Given the description of an element on the screen output the (x, y) to click on. 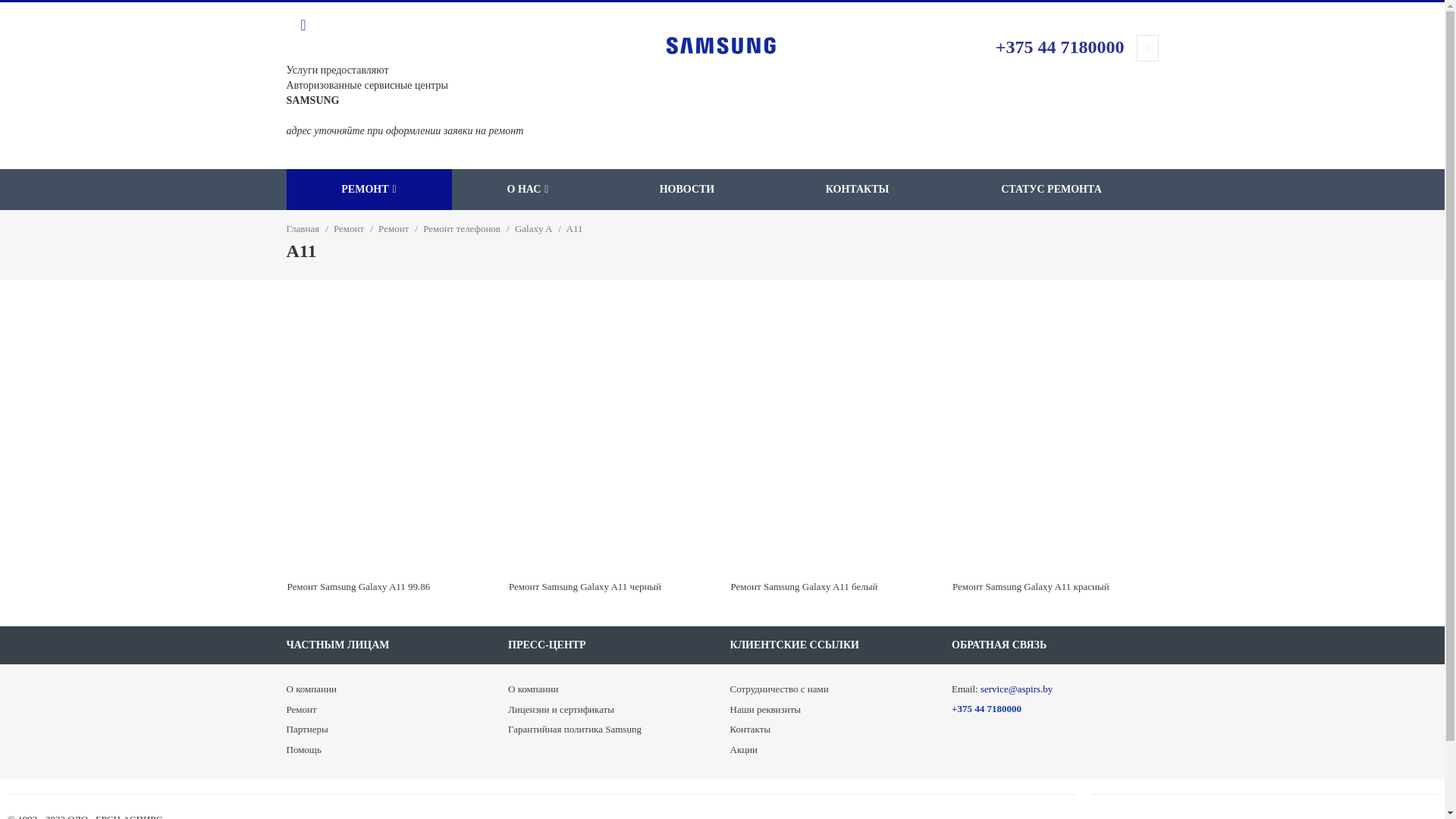
+375 44 7180000 Element type: text (986, 708)
service@aspirs.by Element type: text (1016, 688)
A11 Element type: text (574, 228)
Galaxy A Element type: text (533, 228)
Galaxy A11 99.86 Element type: hover (389, 449)
